Given the description of an element on the screen output the (x, y) to click on. 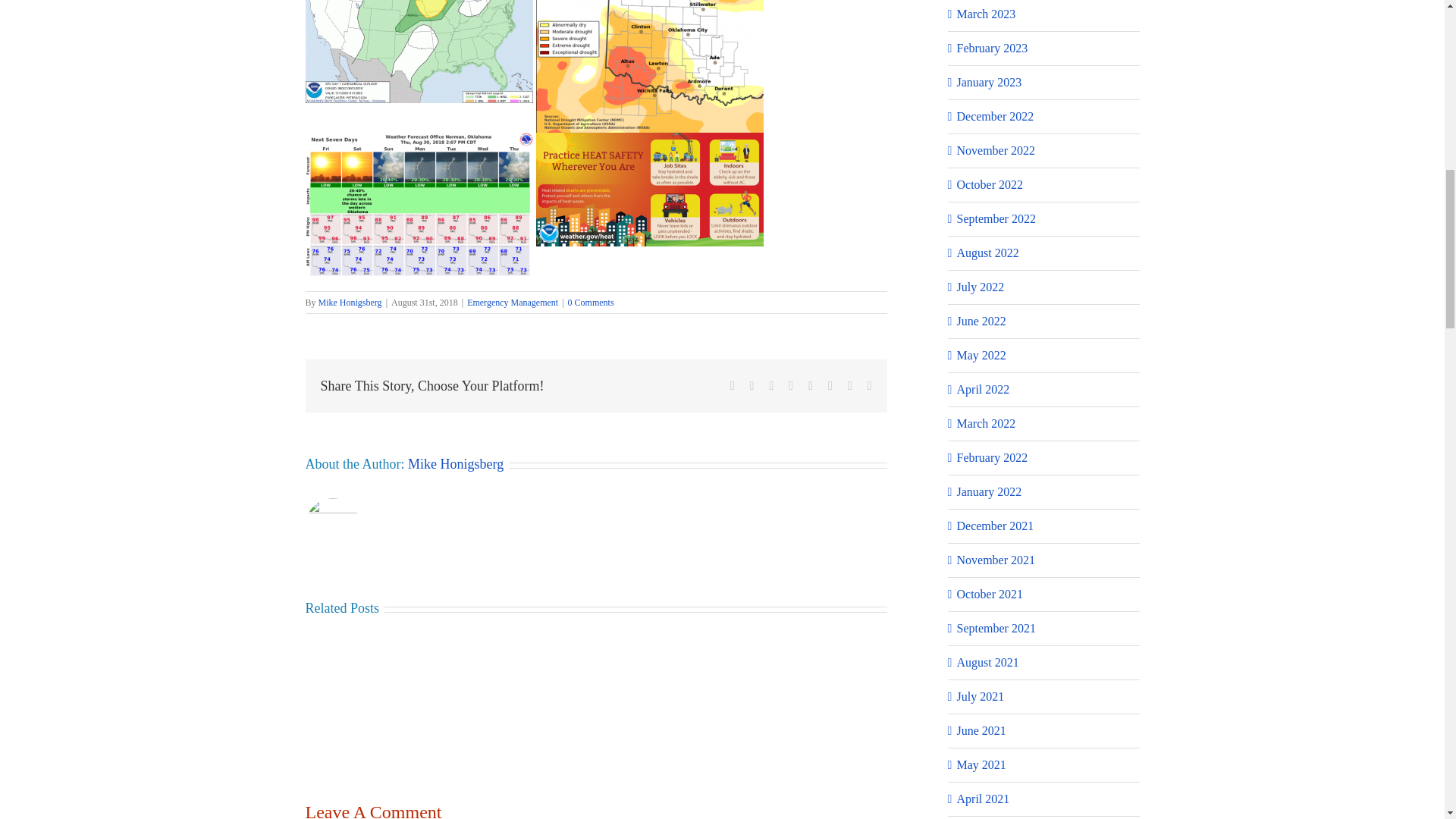
Posts by Mike Honigsberg (455, 463)
Posts by Mike Honigsberg (349, 302)
